Given the description of an element on the screen output the (x, y) to click on. 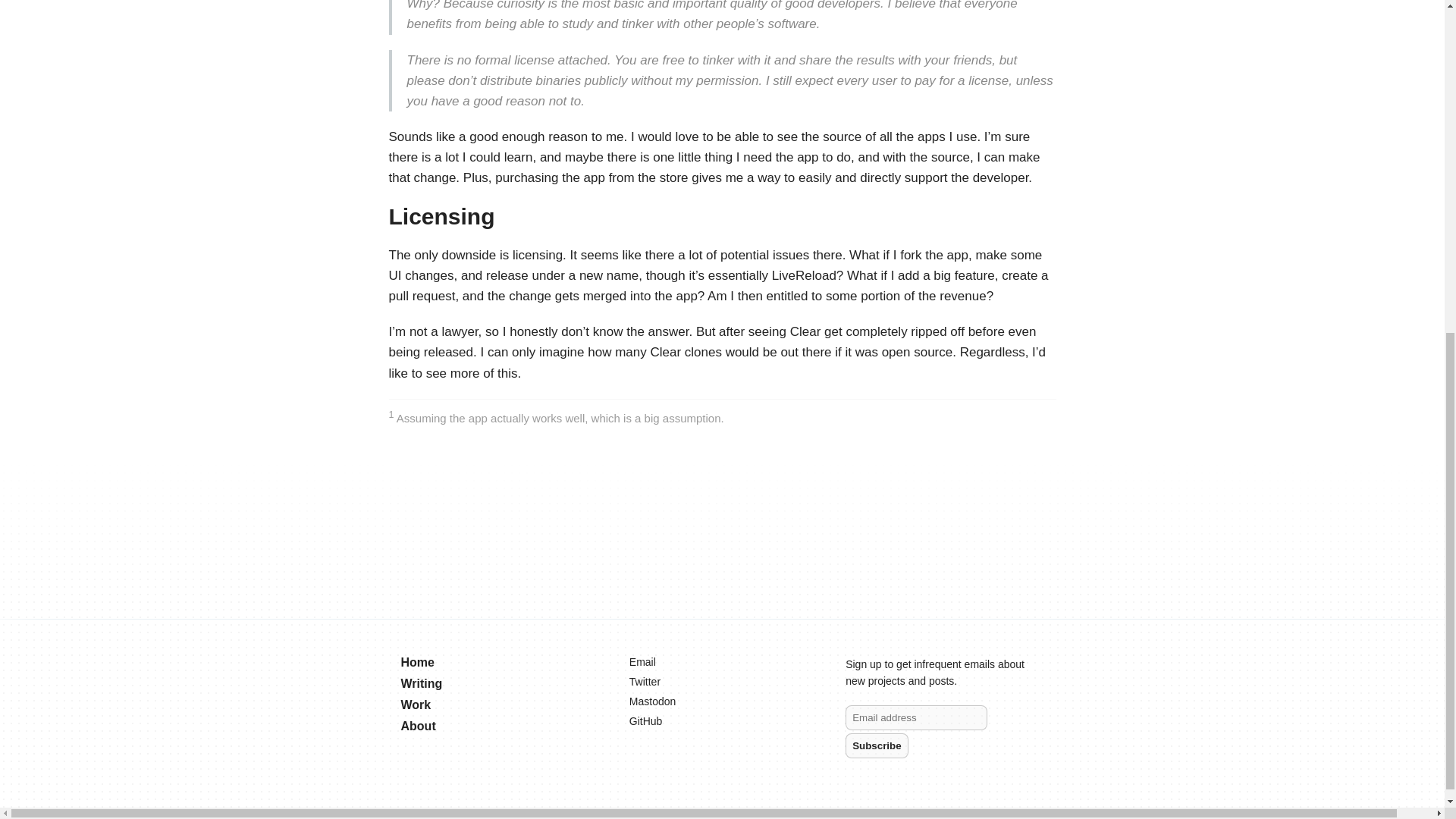
Twitter (642, 681)
Email (639, 662)
Work (415, 704)
GitHub (642, 720)
Home (416, 662)
Writing (421, 683)
Mastodon (649, 701)
Subscribe (876, 745)
Subscribe (876, 745)
About (417, 725)
